Given the description of an element on the screen output the (x, y) to click on. 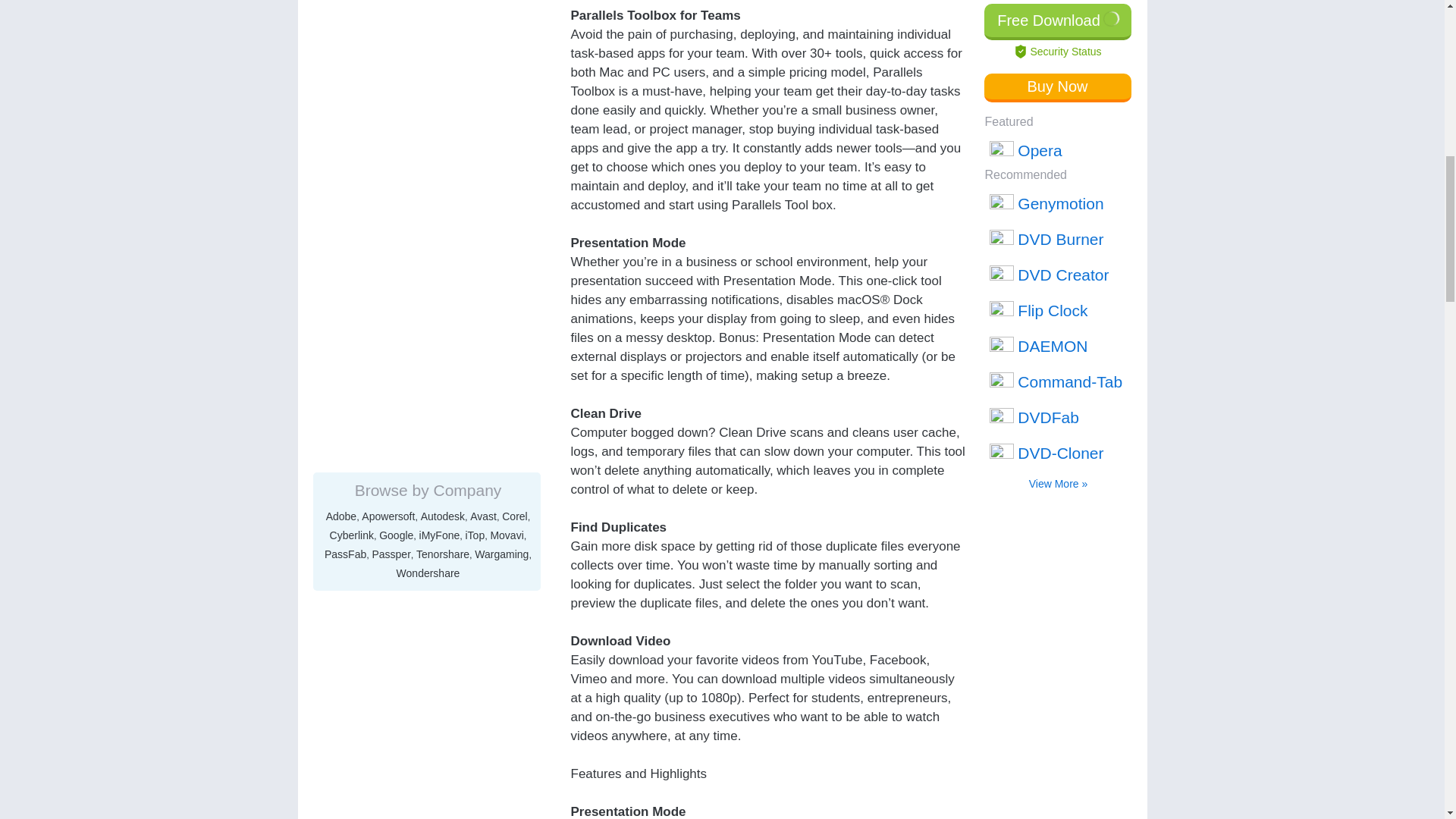
Movavi (505, 106)
PassFab (345, 125)
iTop (474, 106)
Autodesk (442, 87)
Tenorshare (442, 125)
Apowersoft (387, 87)
Wondershare (428, 144)
iMyFone (439, 106)
Adobe (341, 87)
Google (395, 106)
